Given the description of an element on the screen output the (x, y) to click on. 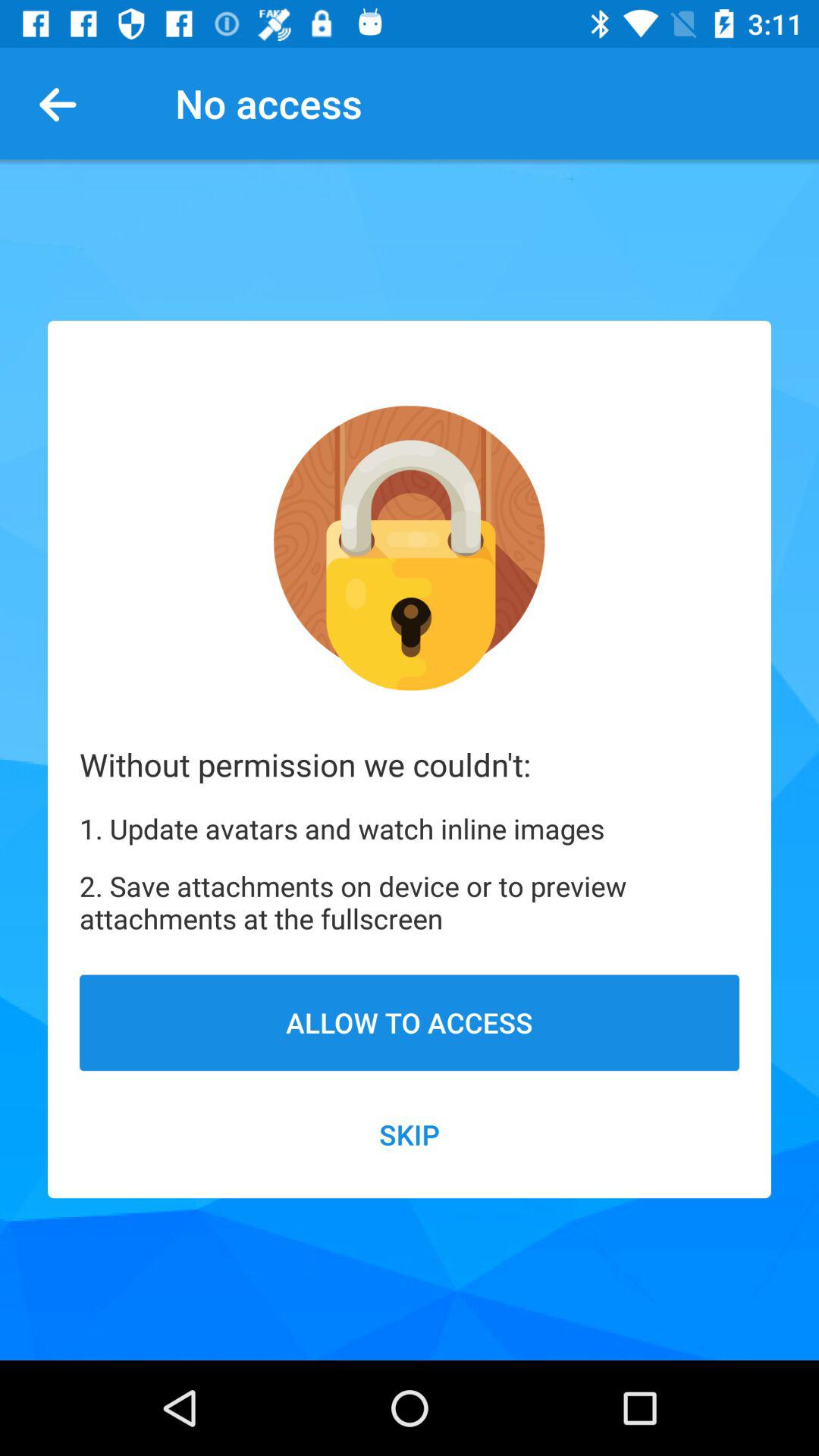
swipe to the skip icon (409, 1134)
